Given the description of an element on the screen output the (x, y) to click on. 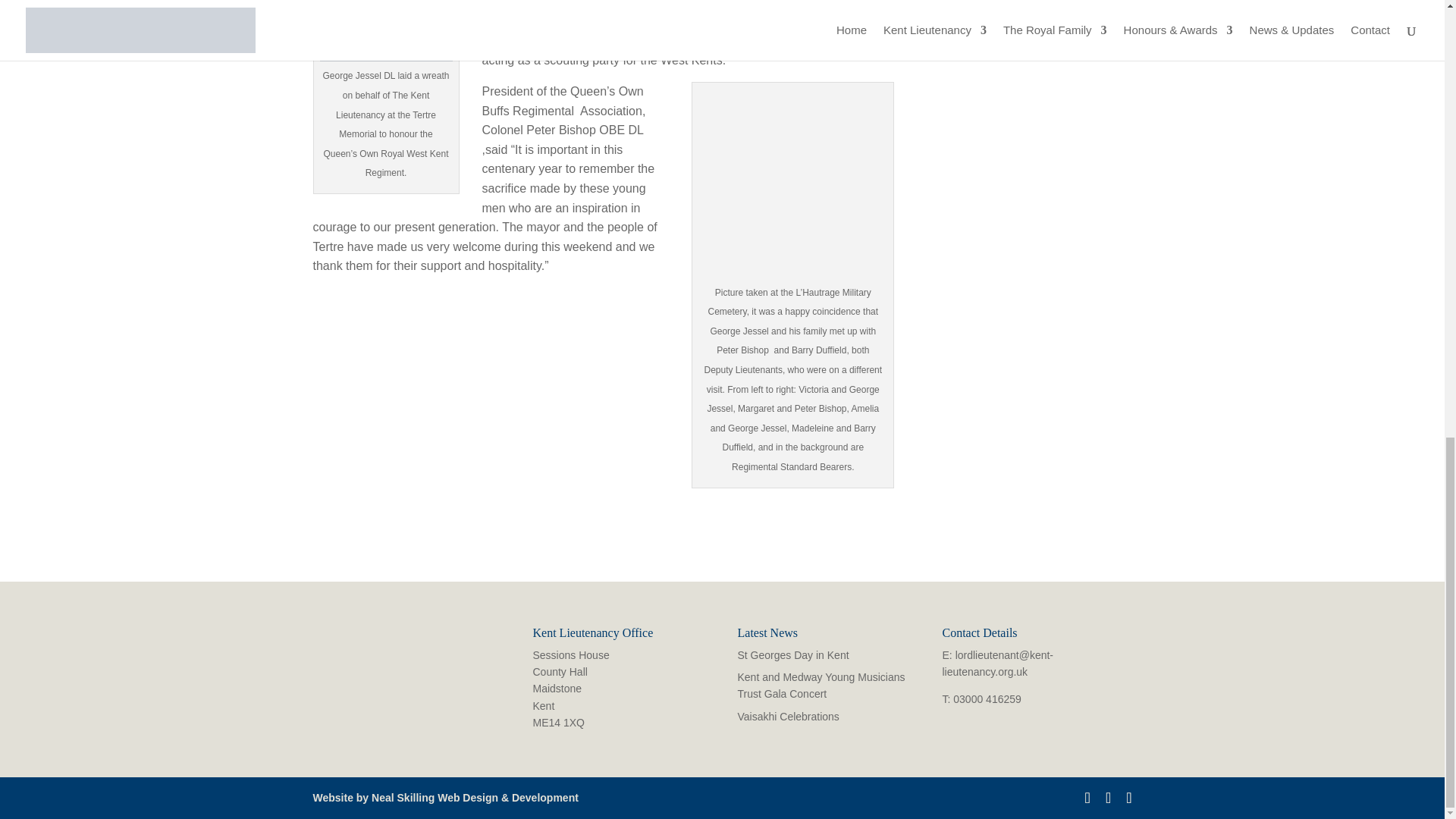
St Georges Day in Kent (792, 654)
Vaisakhi Celebrations (787, 716)
Kent and Medway Young Musicians Trust Gala Concert (820, 685)
